Given the description of an element on the screen output the (x, y) to click on. 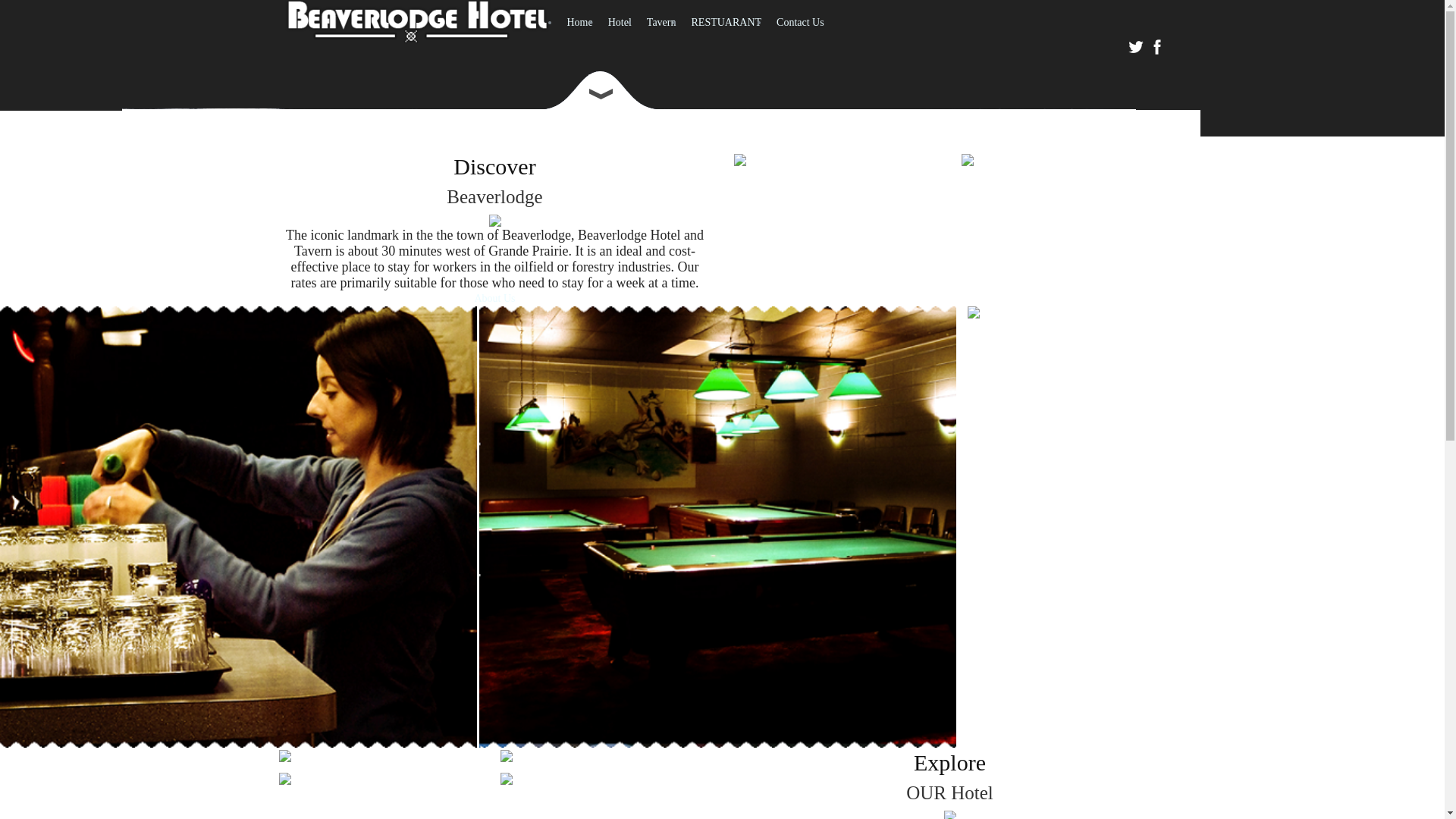
Home Element type: text (580, 22)
Hotel Element type: text (619, 22)
RESTUARANT Element type: text (726, 22)
Tavern Element type: text (661, 22)
Contact Us Element type: text (800, 22)
About Us Element type: text (493, 298)
